Given the description of an element on the screen output the (x, y) to click on. 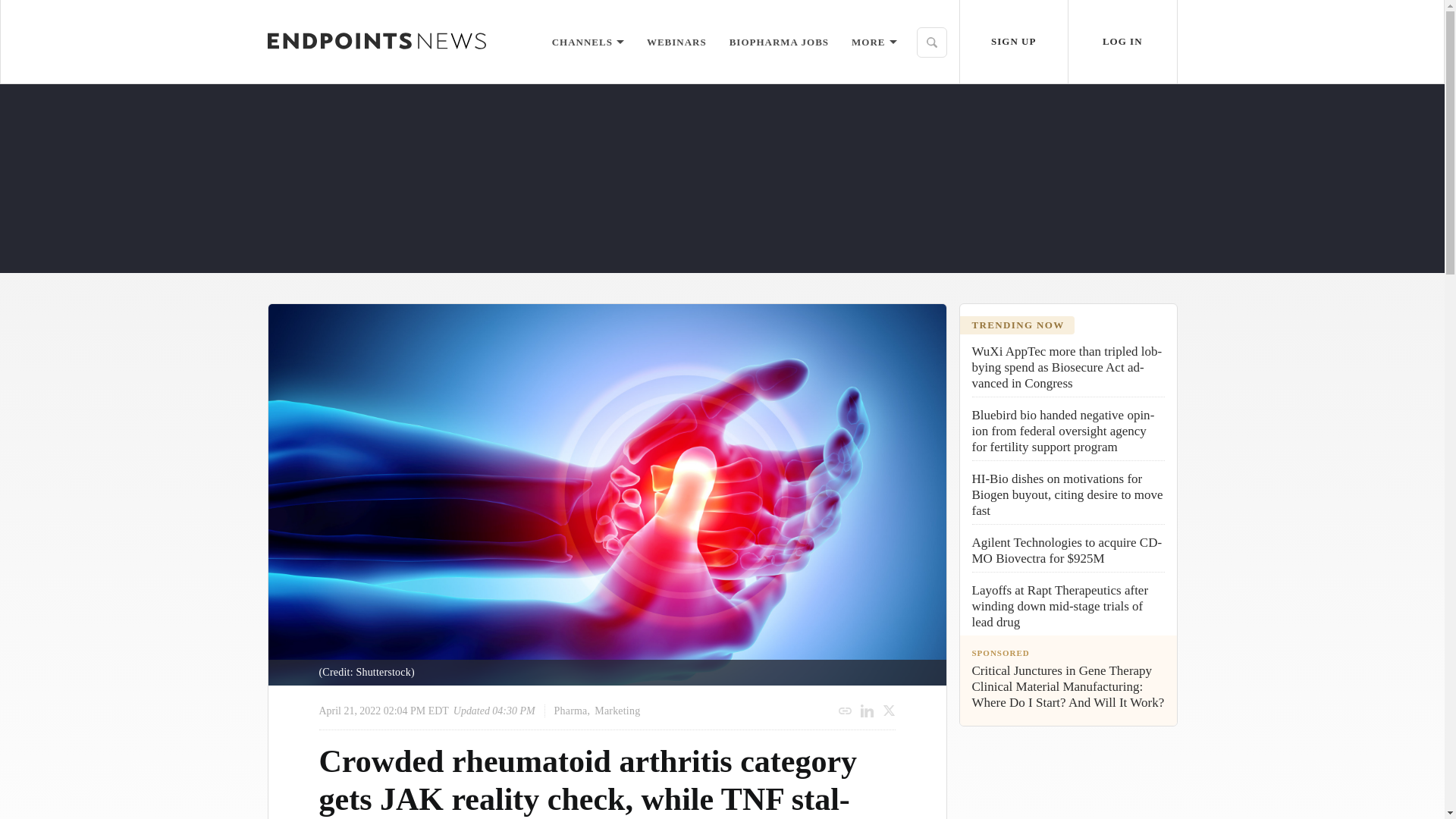
WEBINARS (676, 41)
BIOPHARMA JOBS (778, 41)
